Given the description of an element on the screen output the (x, y) to click on. 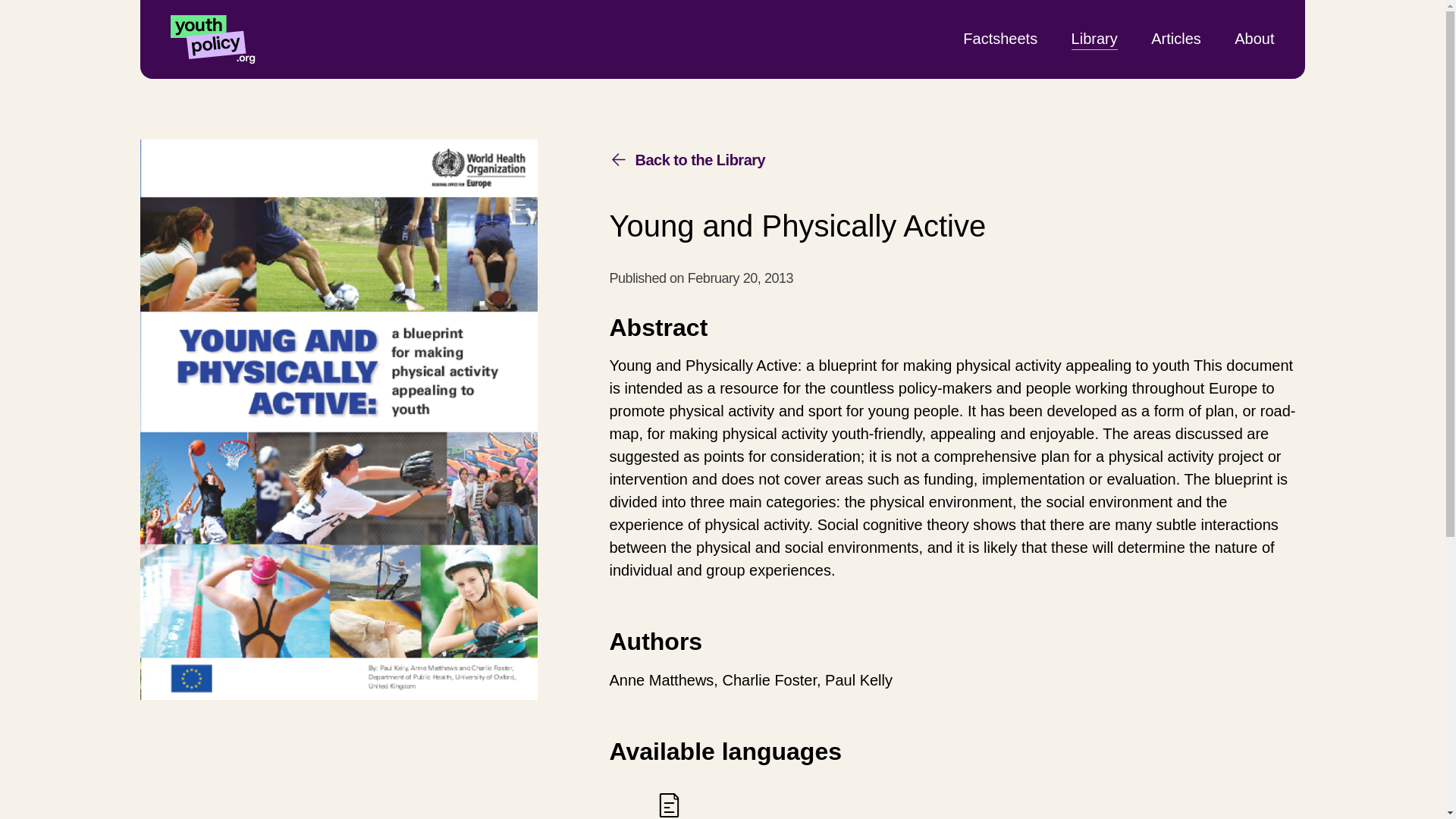
About (1254, 38)
Library (669, 804)
Articles (1094, 38)
Back to the Library (1176, 38)
Factsheets (687, 159)
